Given the description of an element on the screen output the (x, y) to click on. 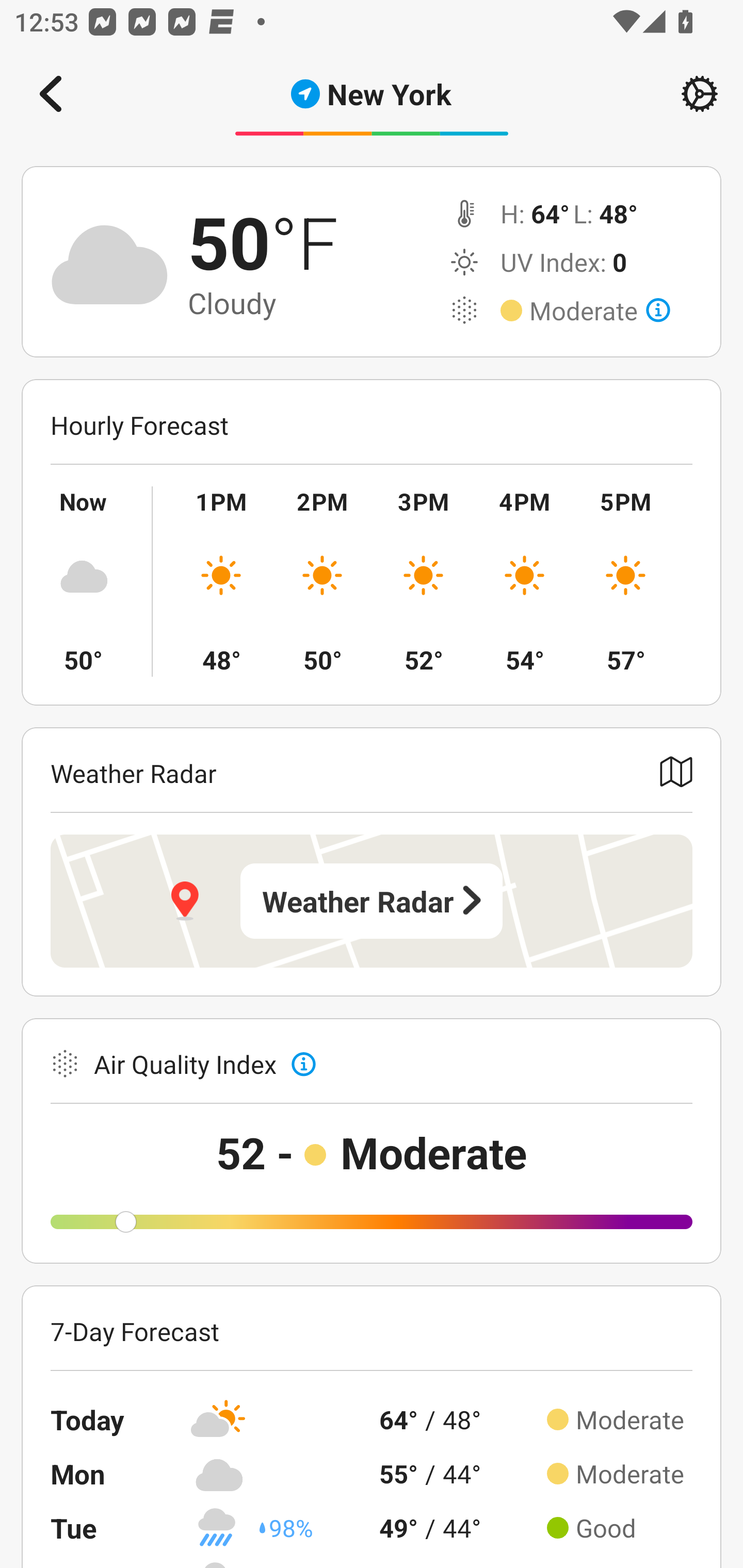
Navigate up (50, 93)
Setting (699, 93)
Moderate (599, 310)
Weather Radar (371, 900)
